Given the description of an element on the screen output the (x, y) to click on. 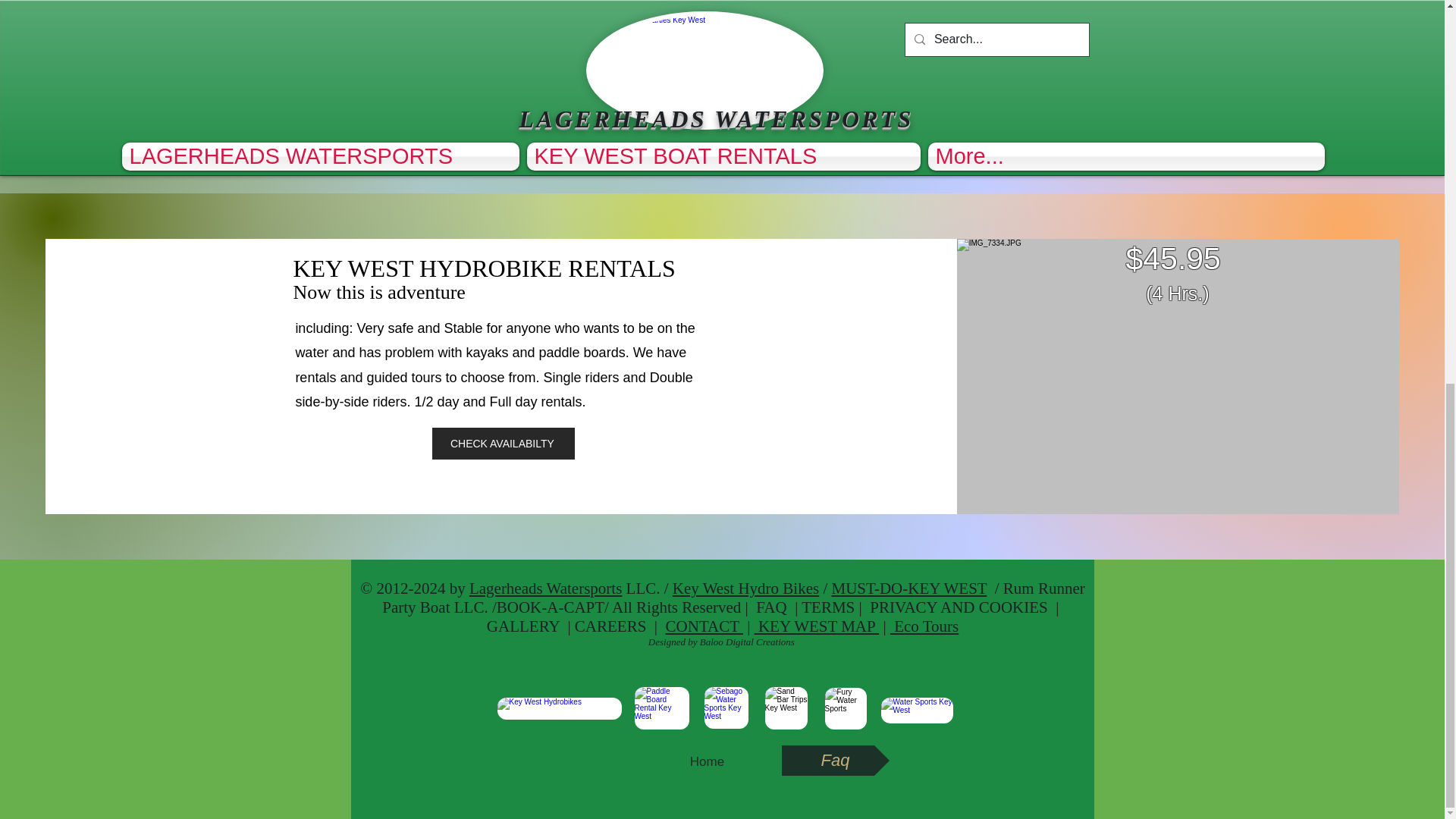
Lagerheads Watersports (544, 588)
Faq (834, 760)
Eco Tours (923, 626)
CHECK AVAILABILTY (503, 54)
CONTACT  (703, 626)
Key West Hydro Bikes (745, 588)
CHECK AVAILABILTY (503, 443)
KEY WEST MAP  (816, 626)
MUST-DO-KEY WEST (909, 588)
Home (707, 761)
